Given the description of an element on the screen output the (x, y) to click on. 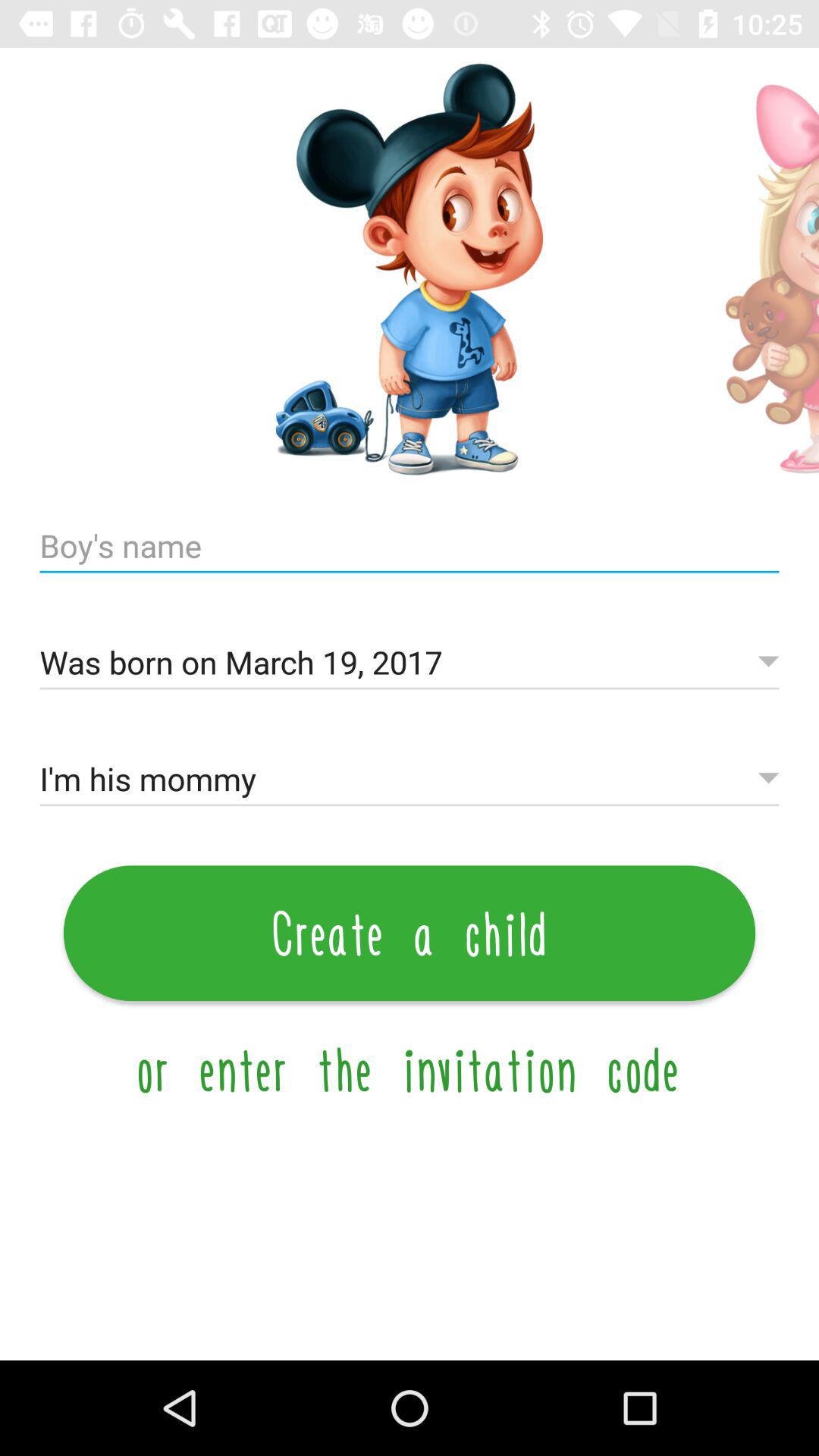
enter child 's name (409, 545)
